Given the description of an element on the screen output the (x, y) to click on. 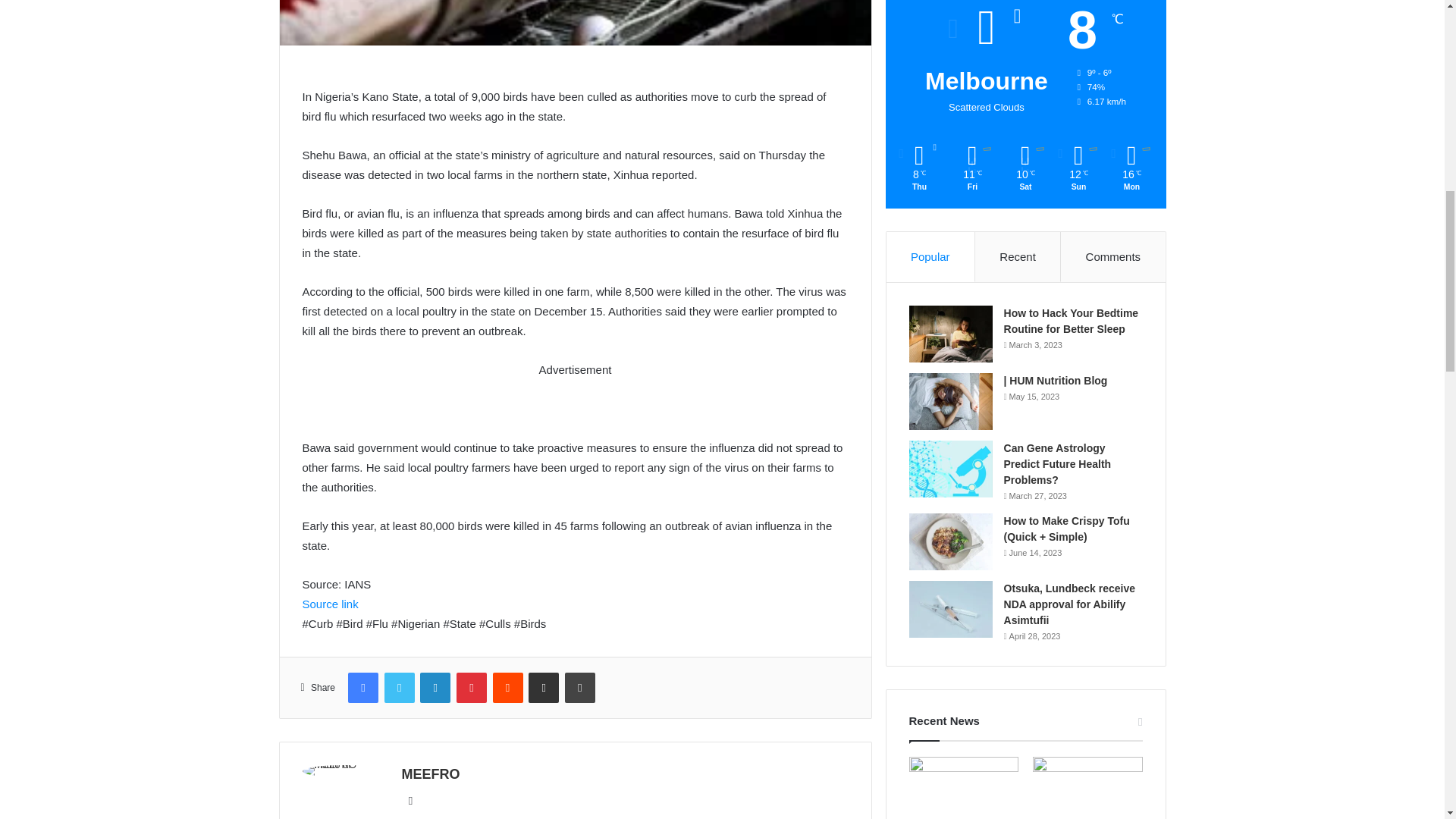
Source link (329, 603)
